Given the description of an element on the screen output the (x, y) to click on. 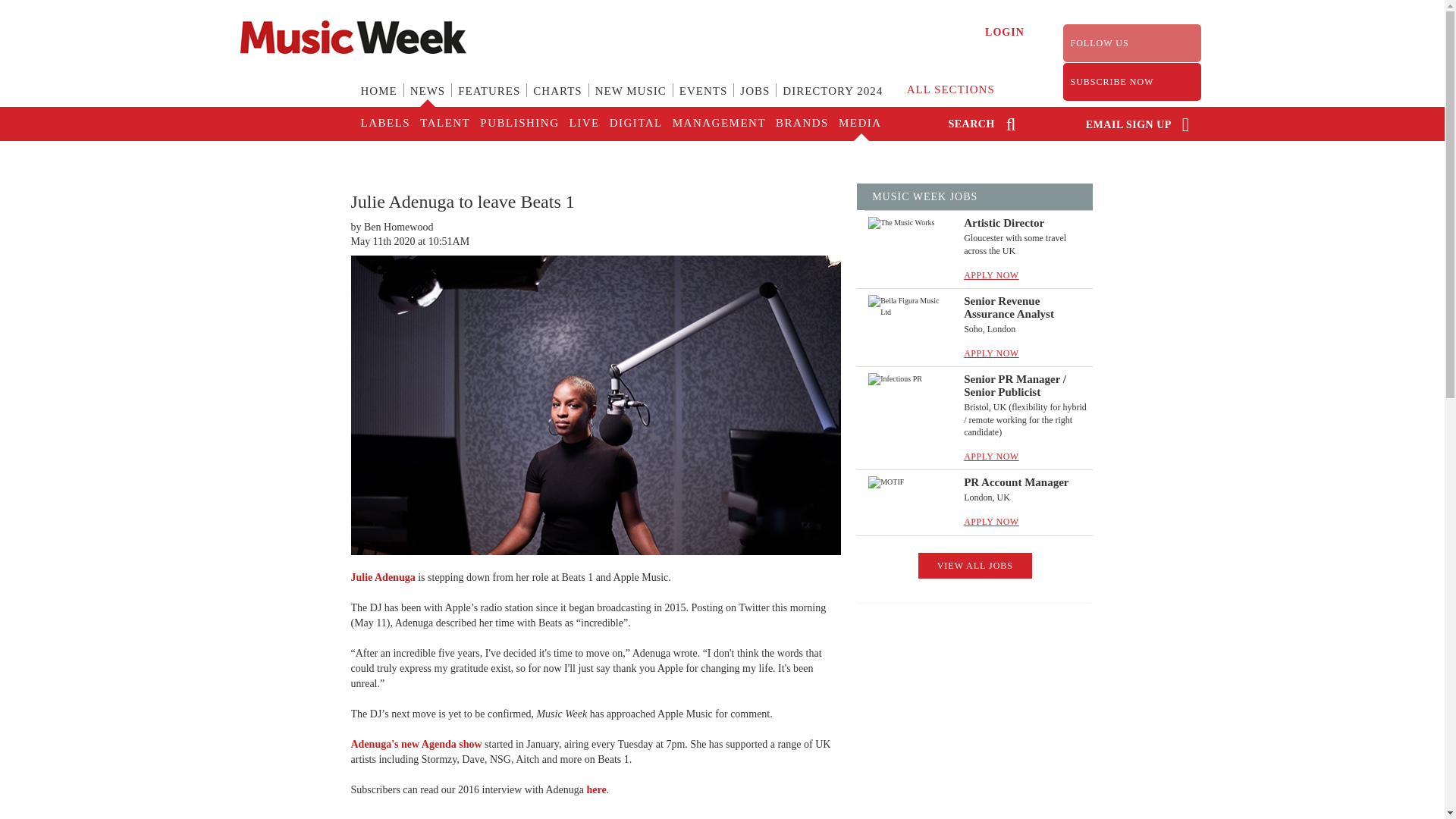
FEATURES (488, 100)
MANAGEMENT (718, 123)
BRANDS (801, 123)
TALENT (443, 123)
MEDIA (858, 123)
LABELS (384, 123)
PUBLISHING (518, 123)
HOME (379, 100)
EVENTS (702, 100)
DIGITAL (635, 123)
